Given the description of an element on the screen output the (x, y) to click on. 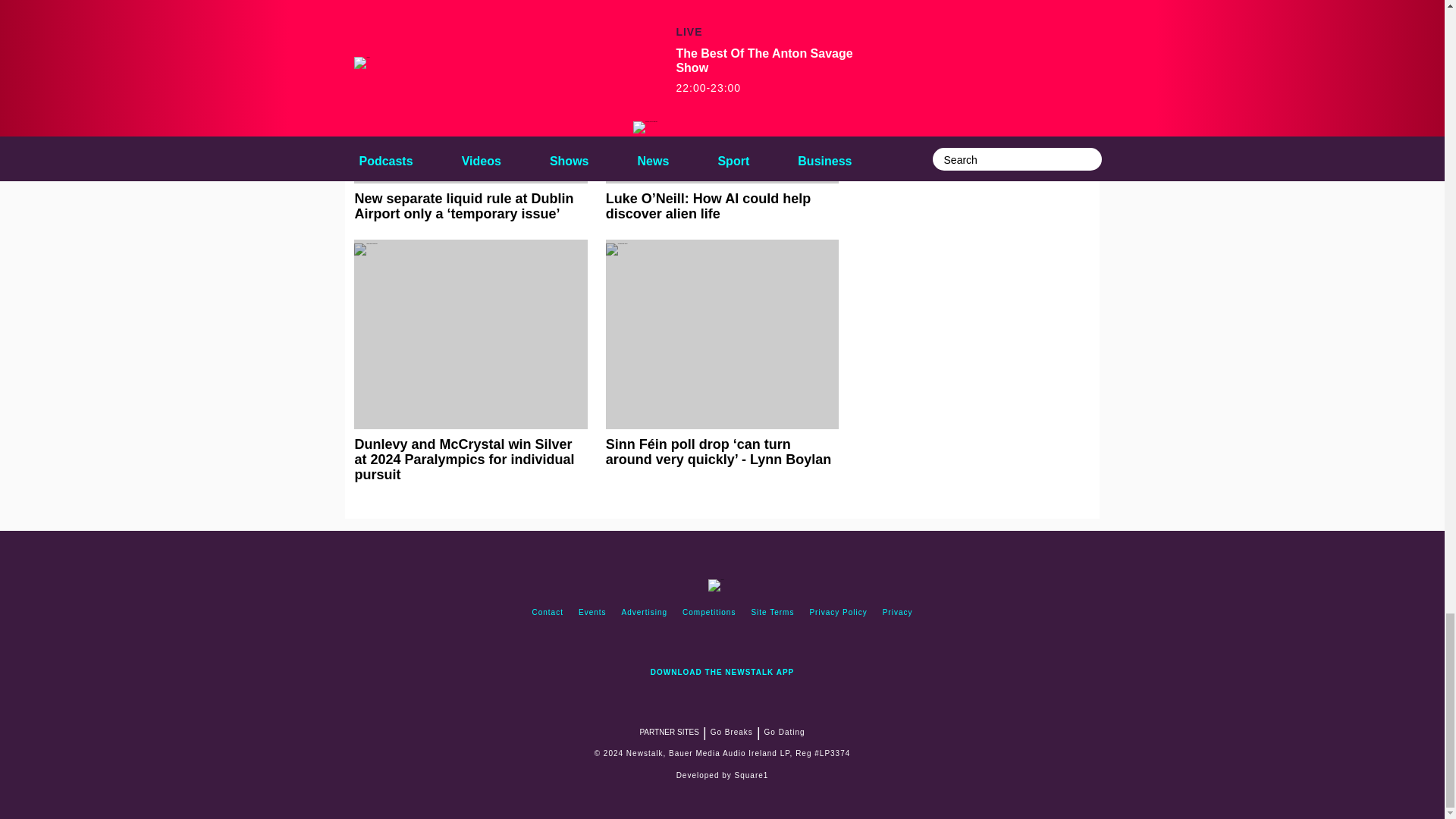
contact (547, 612)
competitions (708, 612)
events (592, 612)
advertising (644, 612)
Privacy (897, 612)
site terms (772, 612)
Privacy Policy (838, 612)
